Given the description of an element on the screen output the (x, y) to click on. 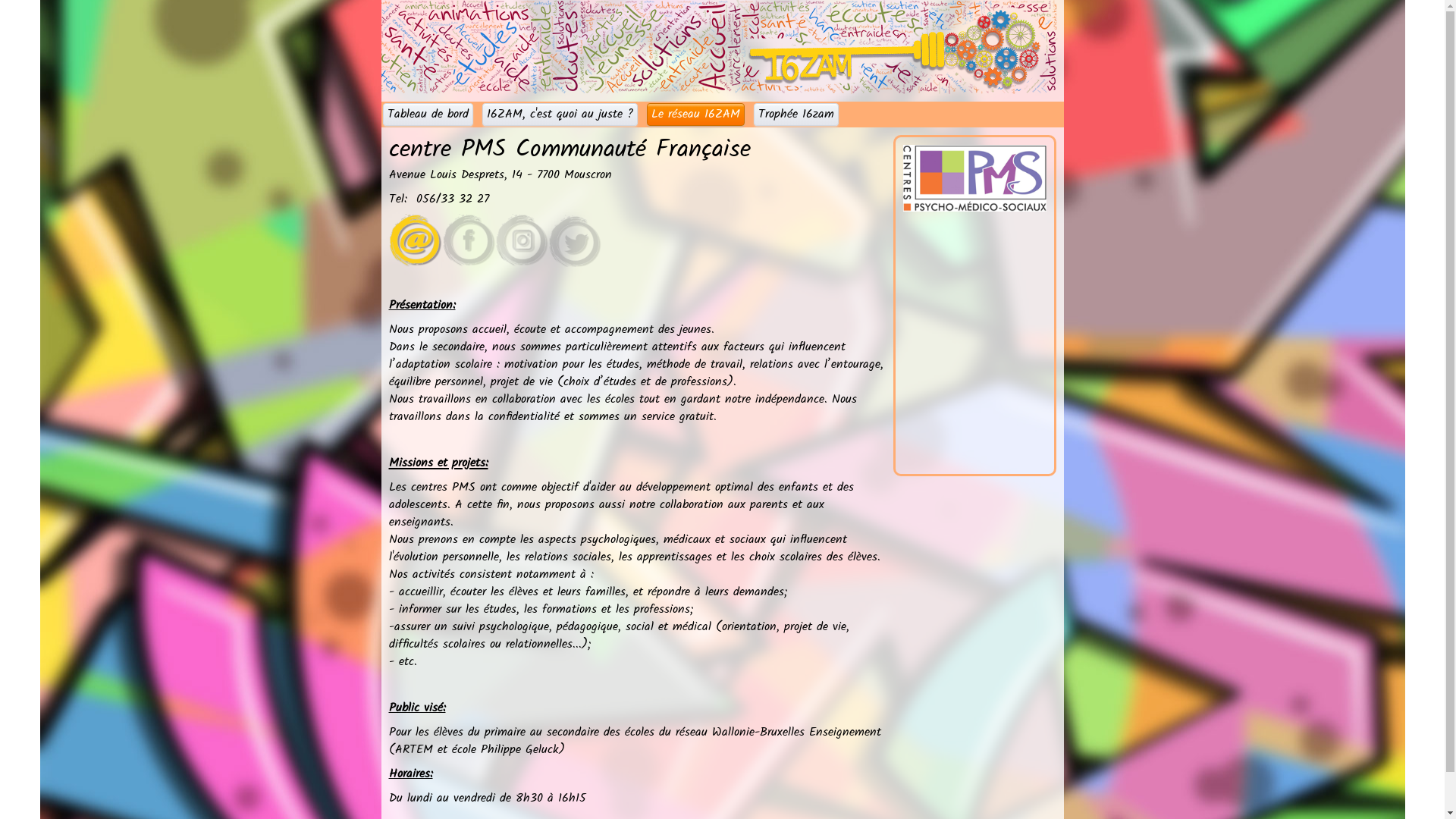
Tableau de bord Element type: text (427, 114)
16ZAM, c'est quoi au juste ? Element type: text (559, 114)
Envoyer un mail Element type: hover (547, 240)
